Given the description of an element on the screen output the (x, y) to click on. 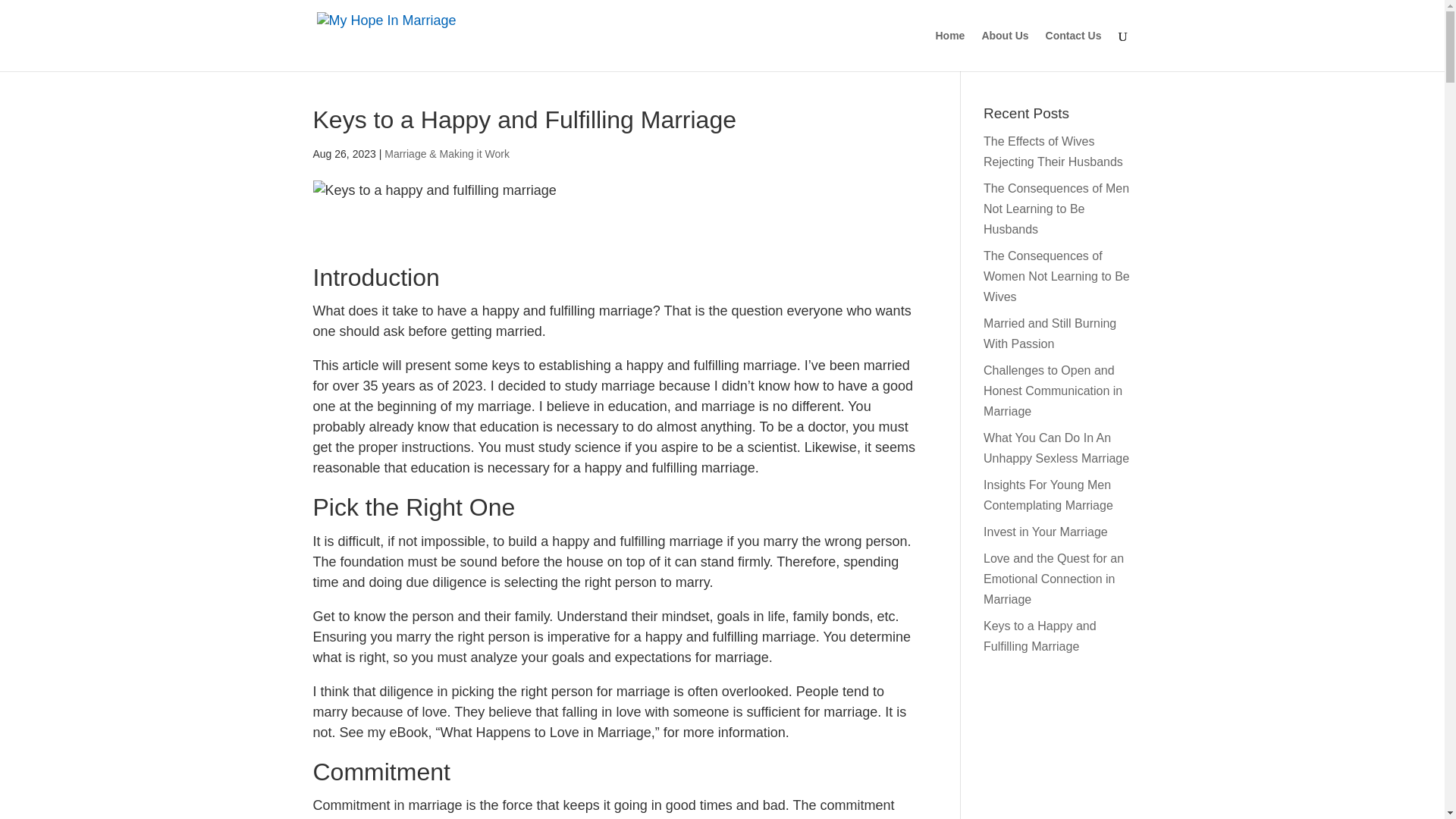
What You Can Do In An Unhappy Sexless Marriage (1056, 448)
The Consequences of Men Not Learning to Be Husbands (1056, 208)
Love and the Quest for an Emotional Connection in Marriage (1054, 579)
The Effects of Wives Rejecting Their Husbands (1053, 151)
Insights For Young Men Contemplating Marriage (1048, 494)
Challenges to Open and Honest Communication in Marriage (1053, 390)
Home (948, 50)
About Us (1004, 50)
Keys to a Happy and Fulfilling Marriage (1040, 635)
Married and Still Burning With Passion (1050, 333)
Contact Us (1073, 50)
The Consequences of Women Not Learning to Be Wives (1056, 276)
Invest in Your Marriage (1046, 531)
